Given the description of an element on the screen output the (x, y) to click on. 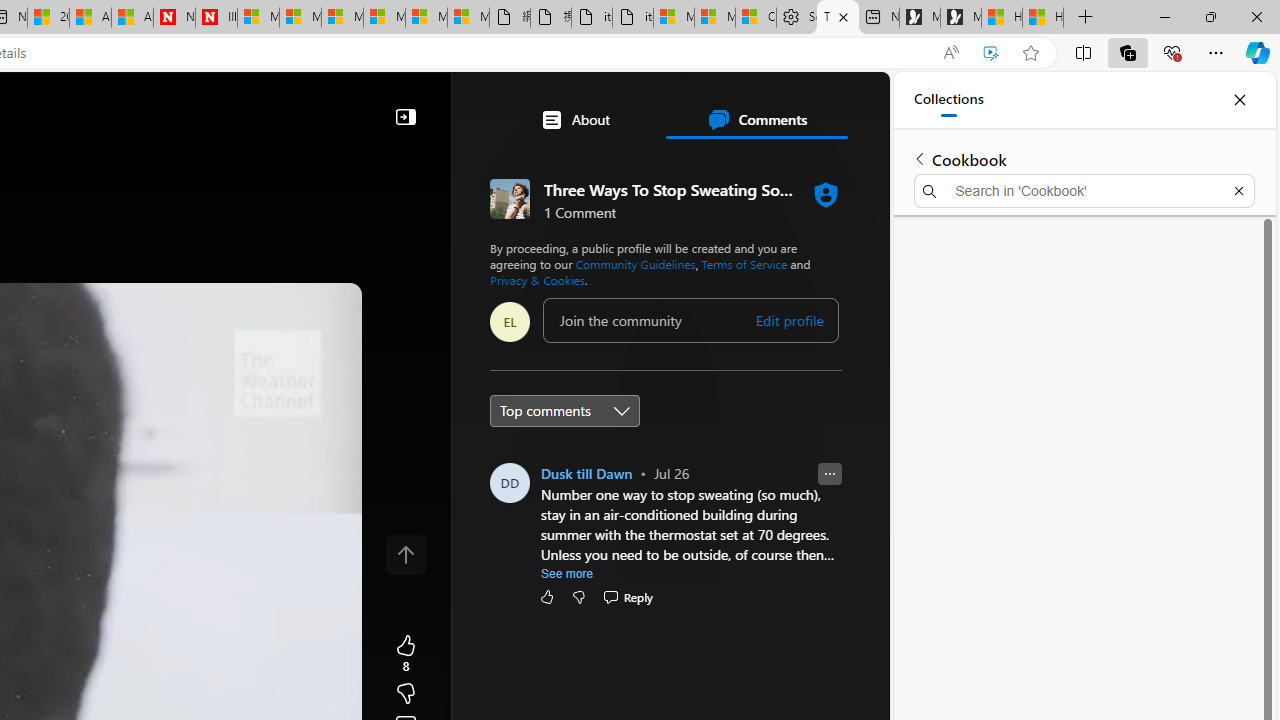
Consumer Health Data Privacy Policy (755, 17)
Community Guidelines (635, 264)
Illness news & latest pictures from Newsweek.com (215, 17)
Profile Picture (509, 482)
How to Use a TV as a Computer Monitor (1042, 17)
comment-box (690, 320)
